Given the description of an element on the screen output the (x, y) to click on. 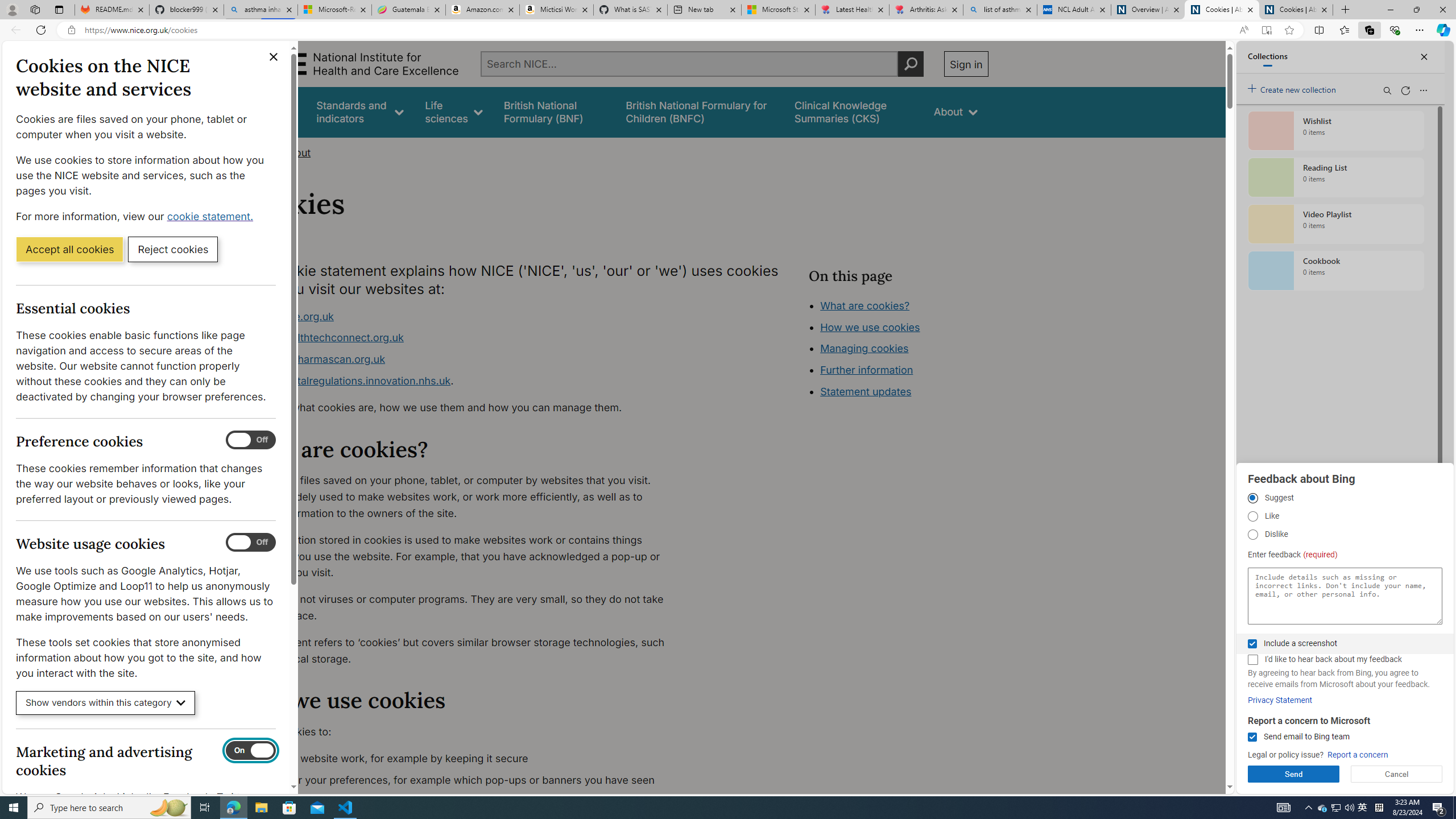
www.digitalregulations.innovation.nhs.uk (351, 380)
